Given the description of an element on the screen output the (x, y) to click on. 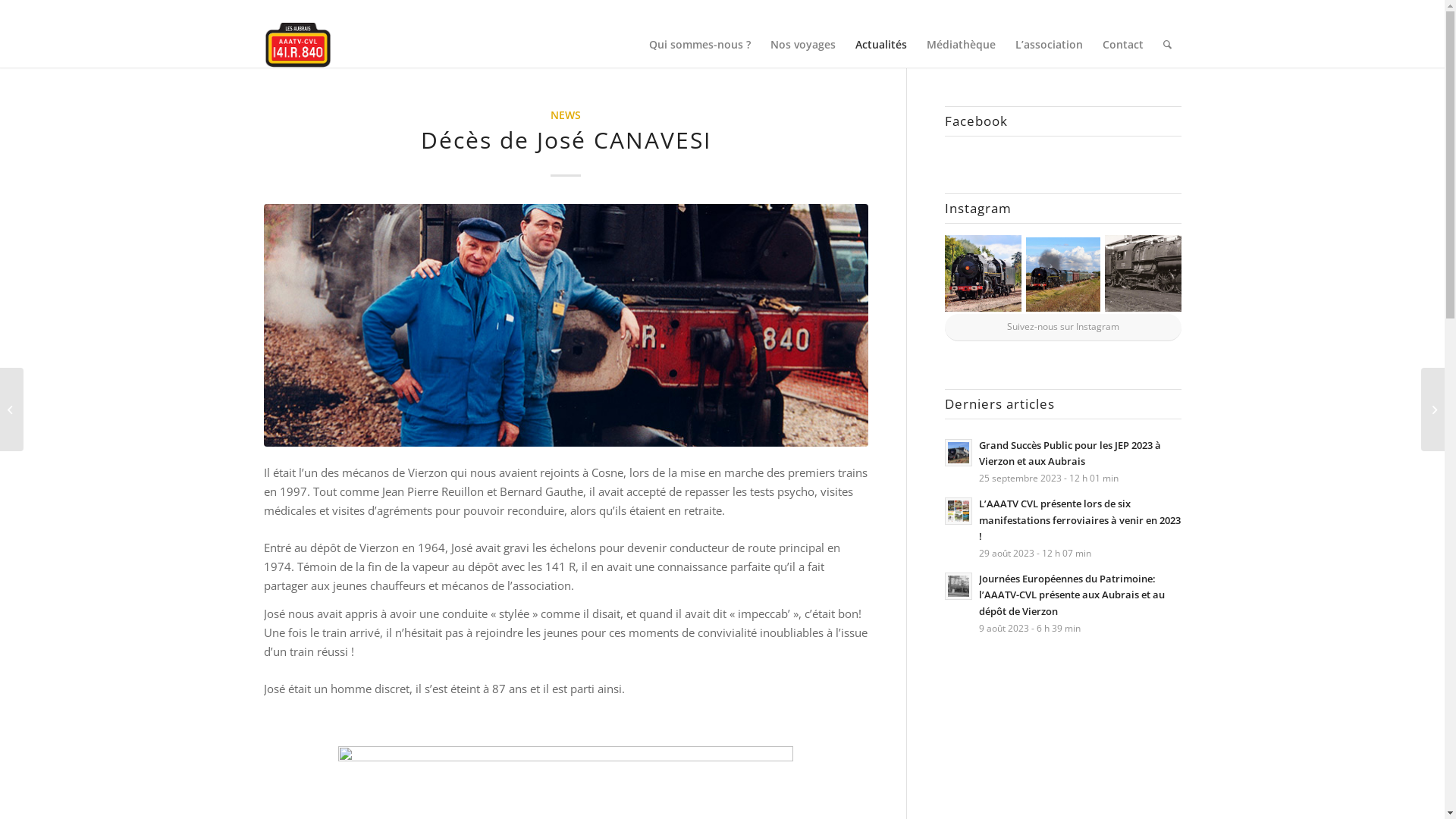
NEWS Element type: text (565, 115)
Suivez-nous sur Instagram Element type: text (1062, 326)
Qui sommes-nous ? Element type: text (698, 44)
logo-141R840-AAATVCVL Element type: hover (297, 44)
Nos voyages Element type: text (801, 44)
Contact Element type: text (1122, 44)
